Given the description of an element on the screen output the (x, y) to click on. 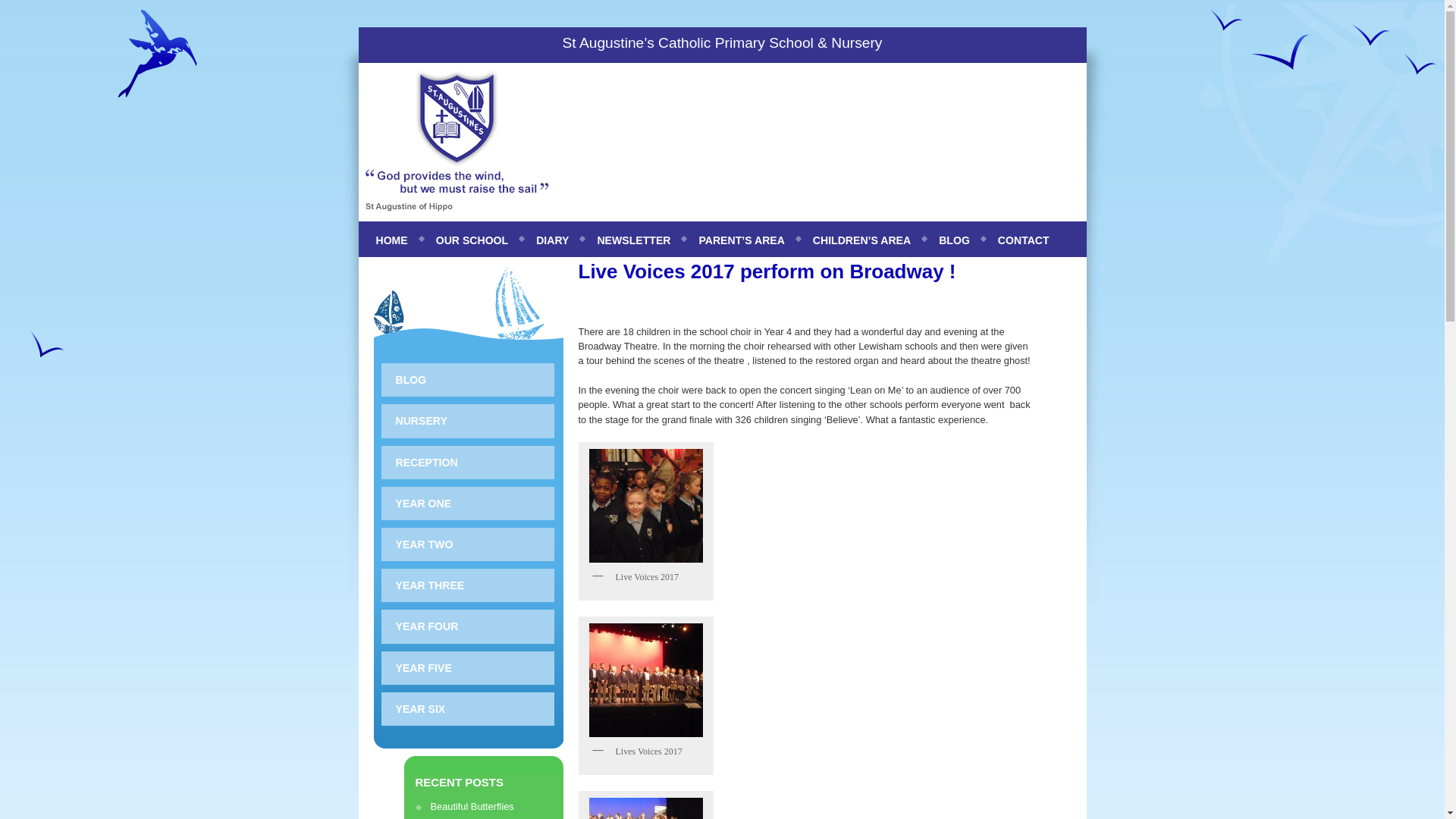
NEWSLETTER (630, 242)
DIARY (548, 242)
BLOG (466, 379)
OUR SCHOOL (468, 242)
CONTACT (1019, 242)
BLOG (950, 242)
HOME (387, 242)
